Given the description of an element on the screen output the (x, y) to click on. 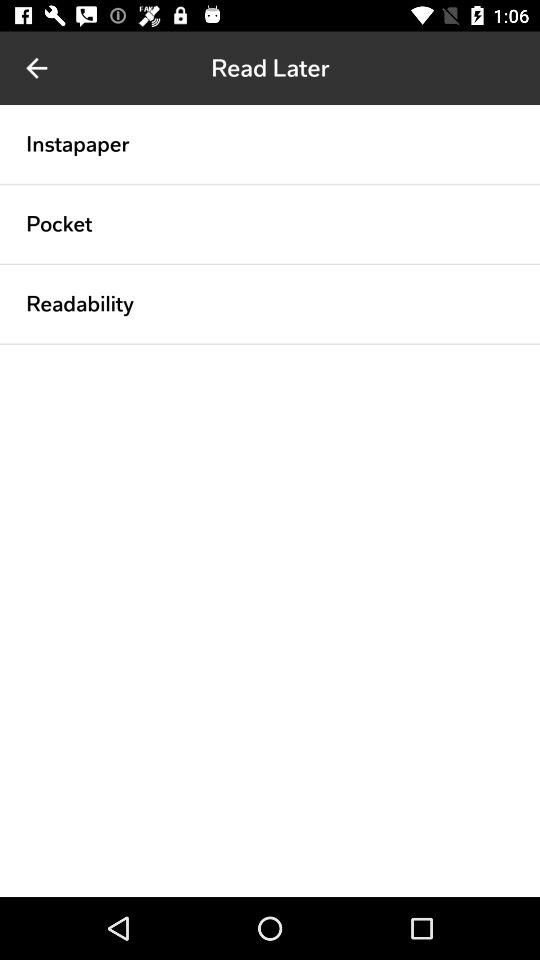
turn on the icon below instapaper icon (270, 184)
